Given the description of an element on the screen output the (x, y) to click on. 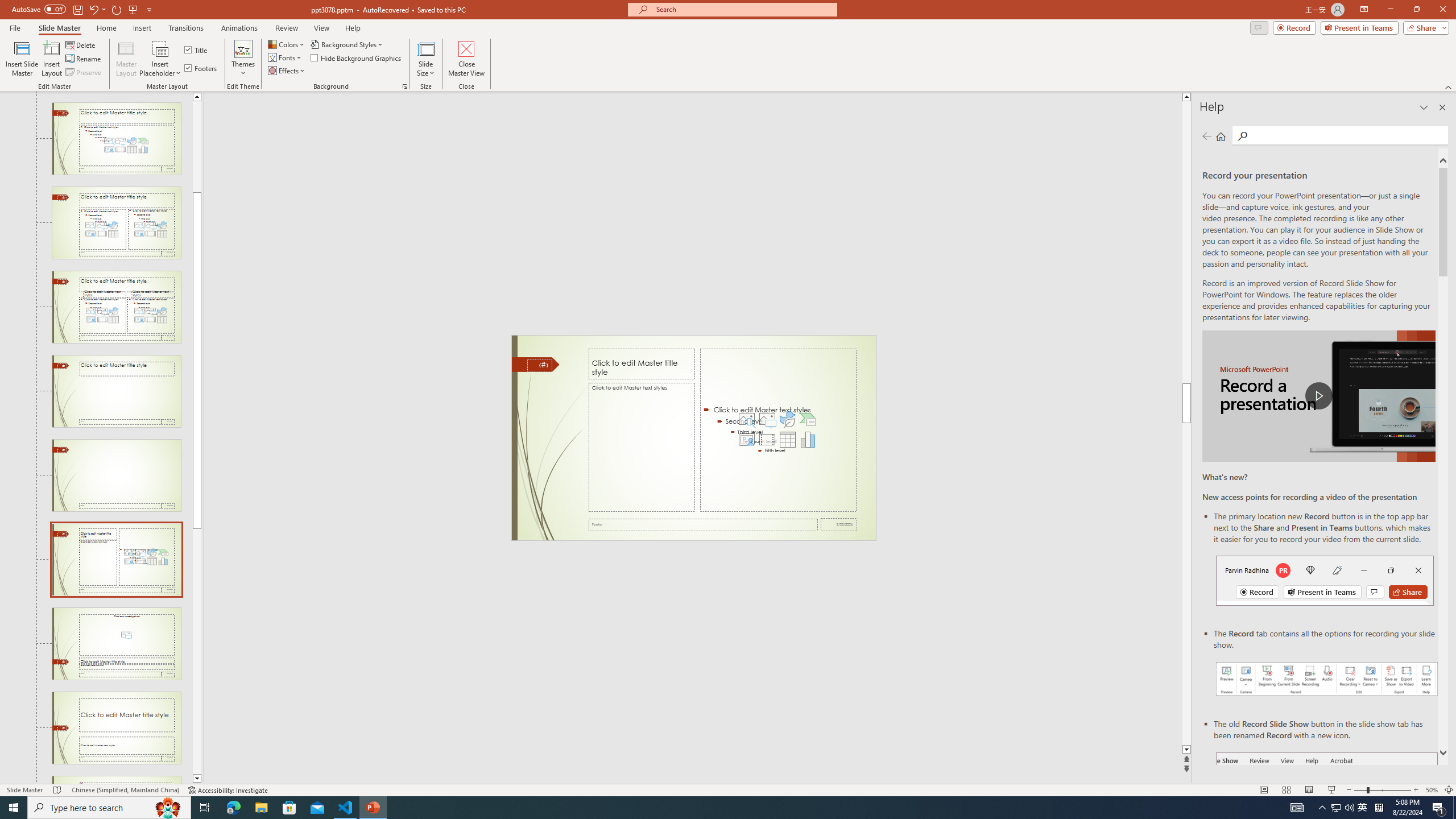
Pictures (767, 419)
Content Placeholder (778, 429)
Insert Placeholder (160, 58)
Title TextBox (641, 363)
Hide Background Graphics (356, 56)
Slide Content with Caption Layout: used by no slides (116, 559)
Fonts (285, 56)
Preserve (84, 72)
